Given the description of an element on the screen output the (x, y) to click on. 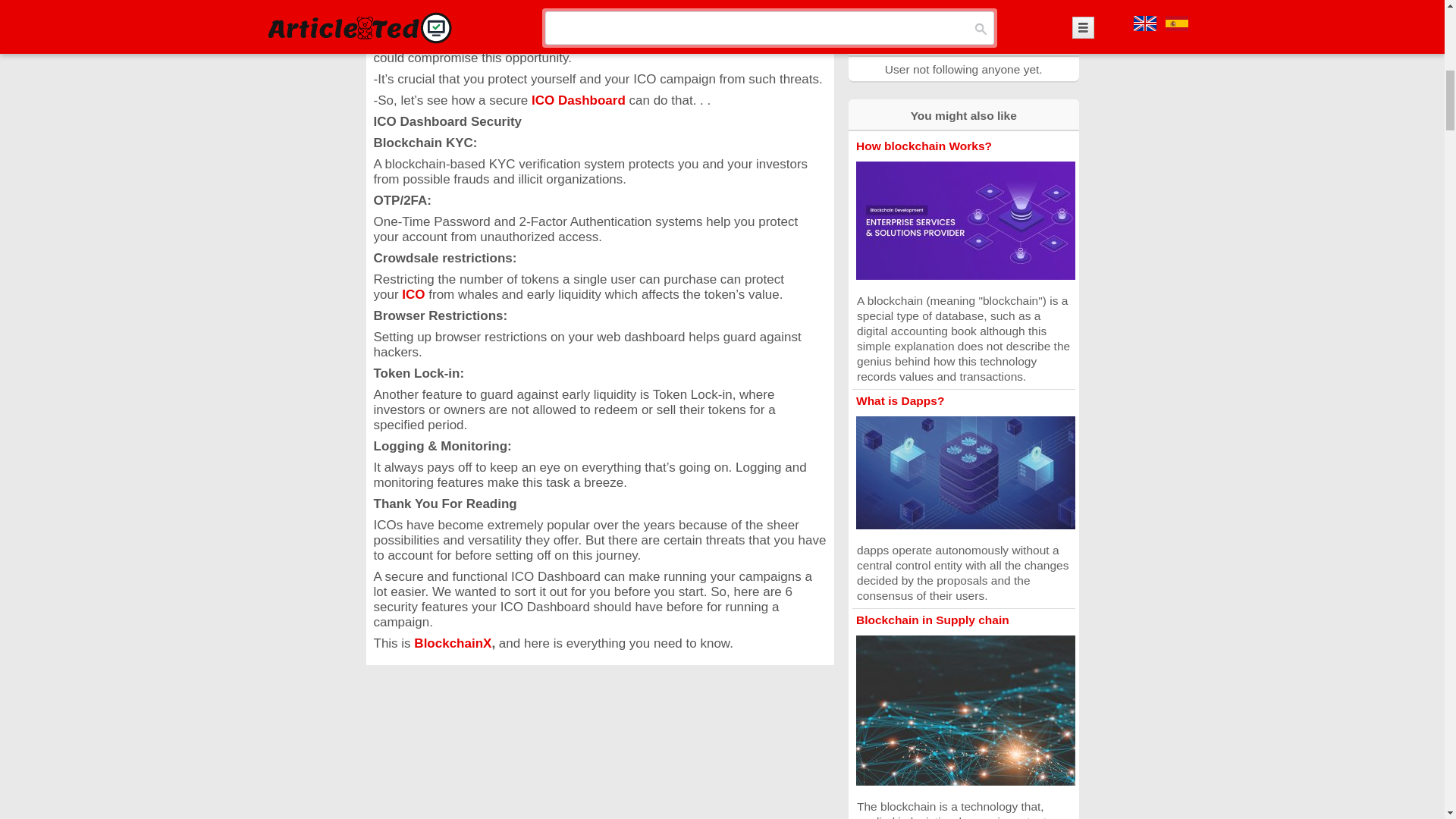
ICO (413, 294)
How blockchain Works? (923, 145)
 BlockchainX (451, 643)
Blockchain in Supply chain (932, 619)
What is Dapps? (899, 400)
 ICO Dashboard  (577, 100)
